Given the description of an element on the screen output the (x, y) to click on. 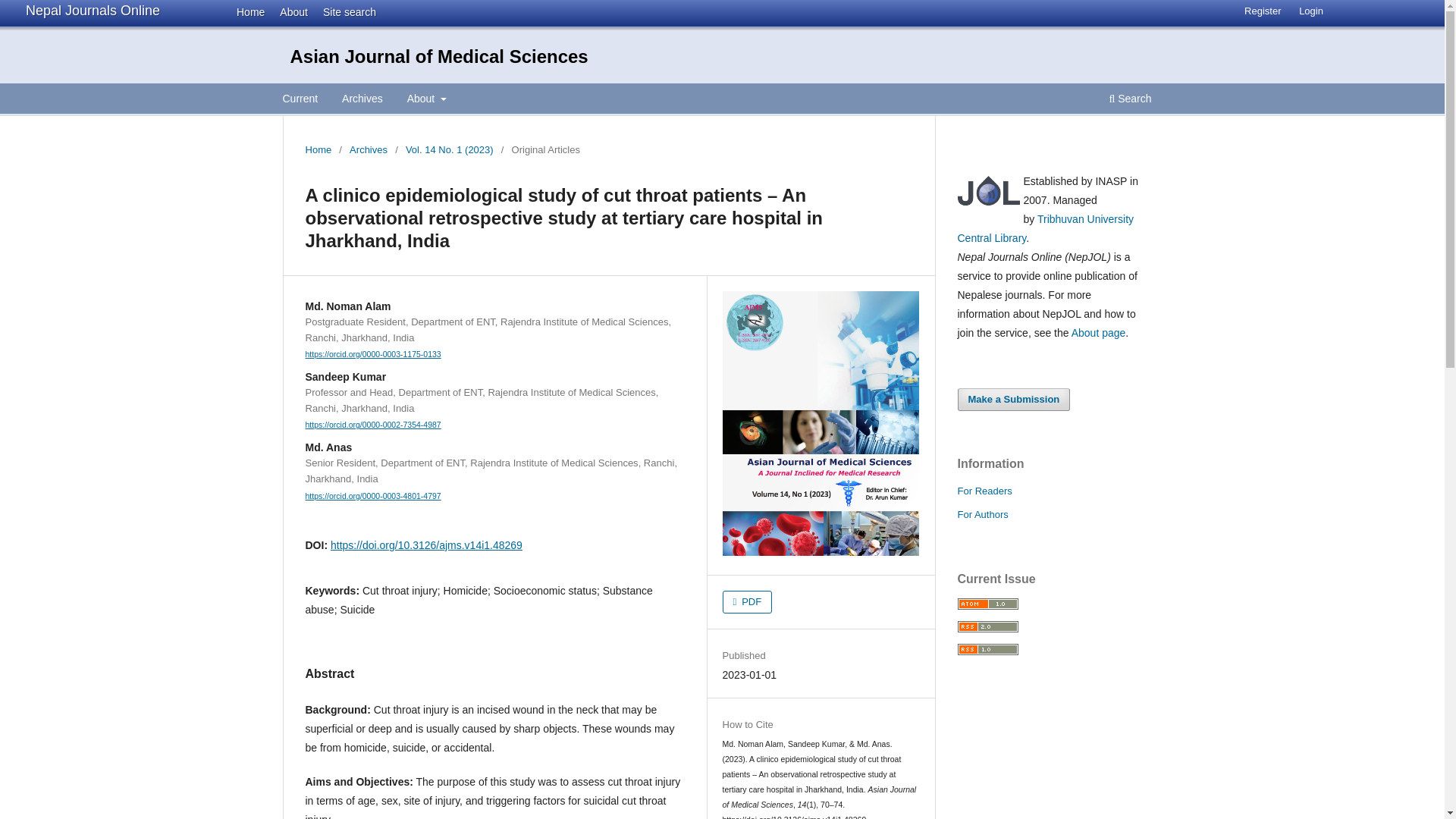
Login (1310, 11)
Register (1262, 11)
Archives (362, 99)
Current (300, 99)
Asian Journal of Medical Sciences (438, 56)
PDF (747, 601)
Home (317, 150)
Nepal Journals Online (93, 10)
About (289, 11)
Archives (368, 150)
